Given the description of an element on the screen output the (x, y) to click on. 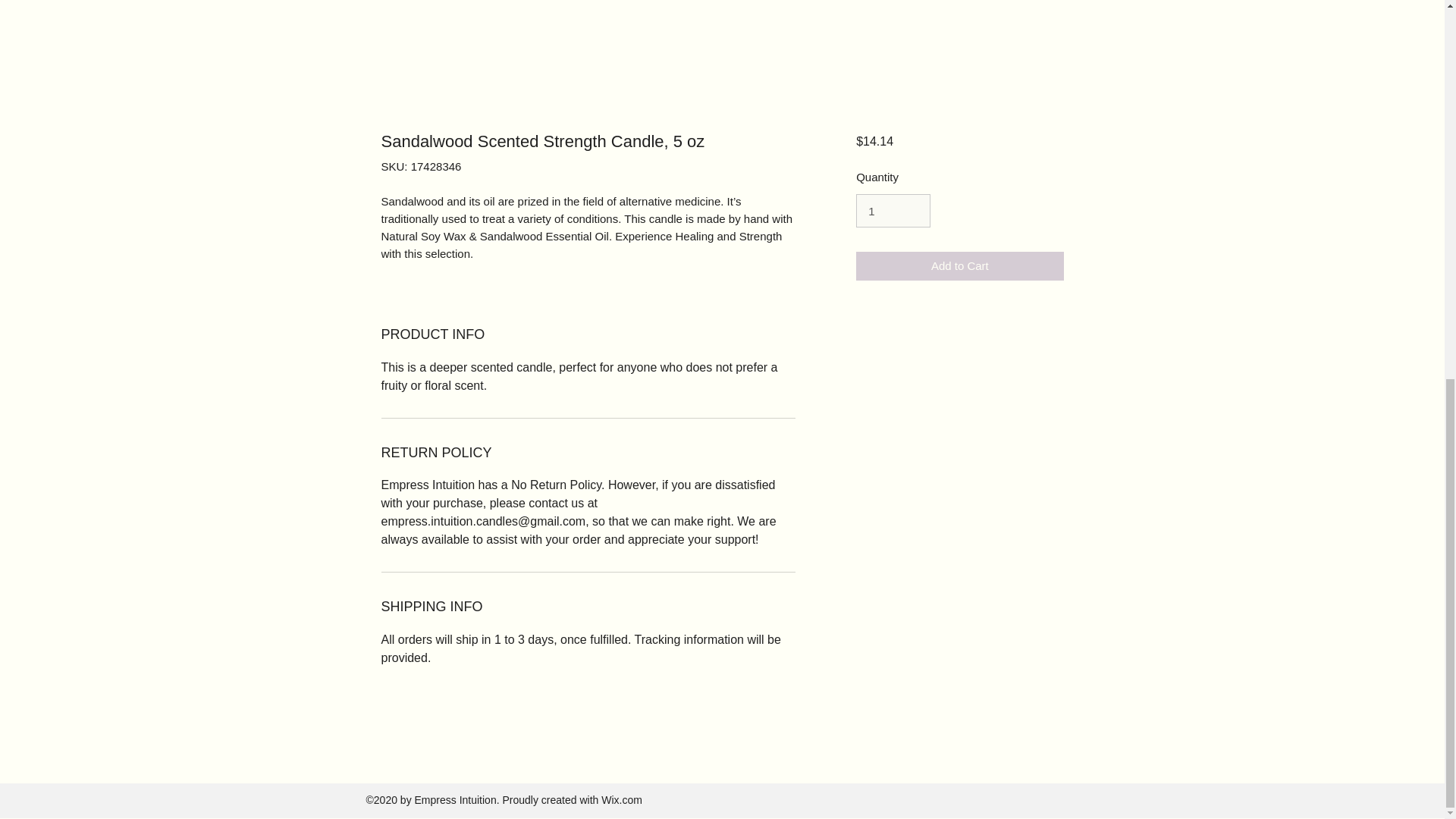
Add to Cart (959, 266)
1 (893, 210)
